Given the description of an element on the screen output the (x, y) to click on. 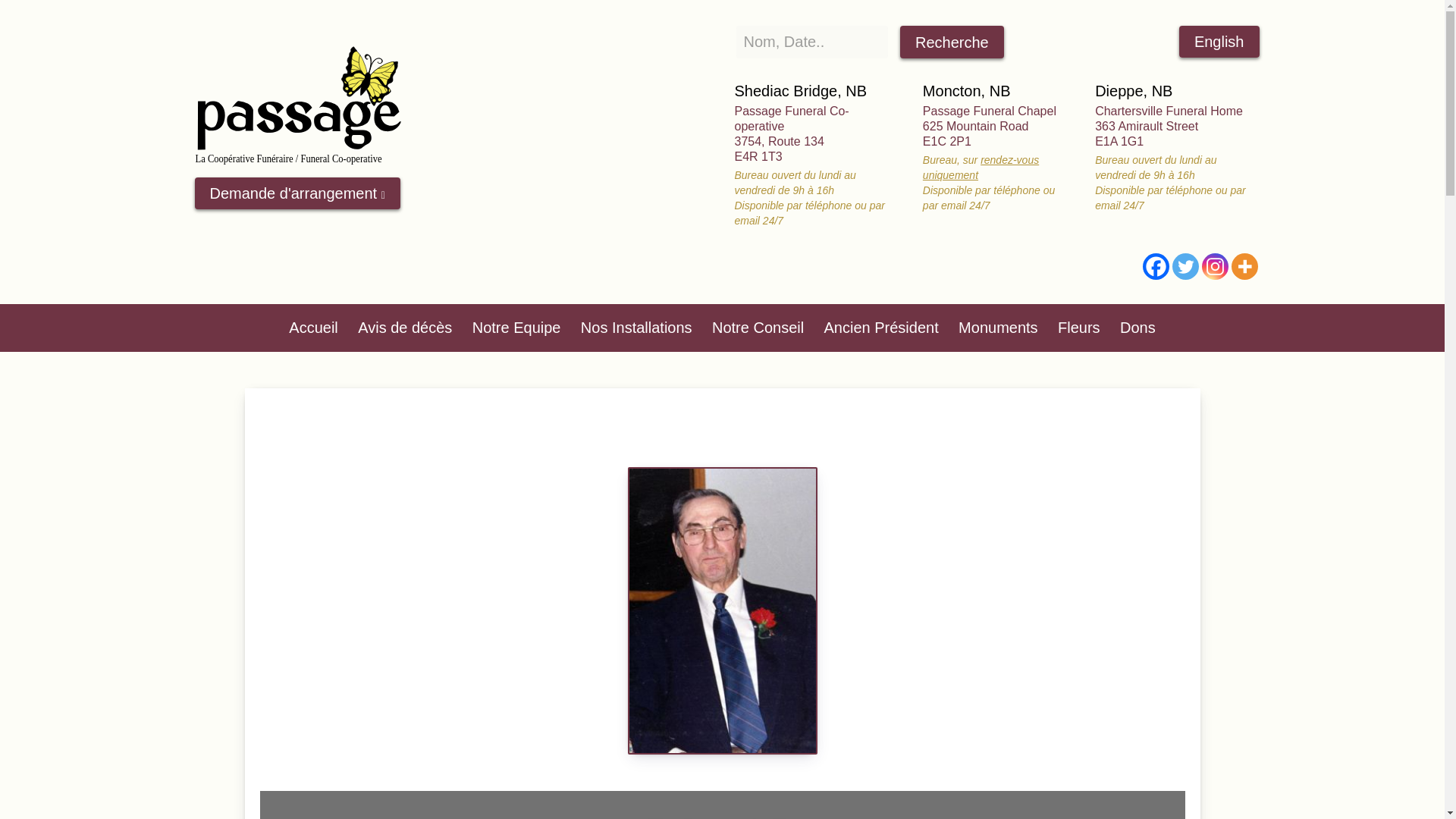
Recherche (951, 41)
Recherche (951, 41)
Monuments (998, 327)
Twitter (1185, 266)
Nos Installations (635, 327)
More (1244, 266)
Notre Conseil (757, 327)
Facebook (1155, 266)
English (1219, 41)
Fleurs (1078, 327)
Dons (1137, 327)
Notre Equipe (516, 327)
Recherche (951, 41)
Instagram (1214, 266)
Demande d'arrangement (295, 193)
